Given the description of an element on the screen output the (x, y) to click on. 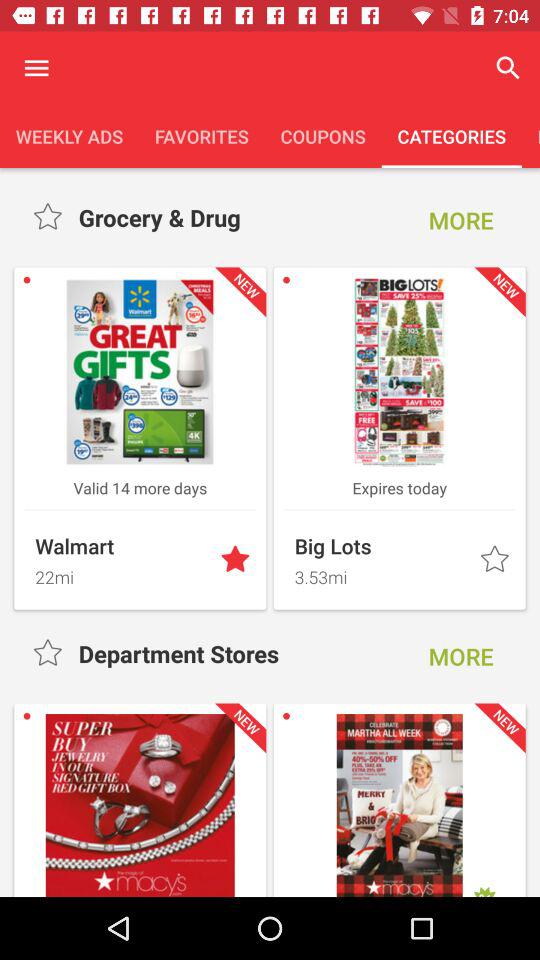
select 3.53mi icon (381, 574)
